Given the description of an element on the screen output the (x, y) to click on. 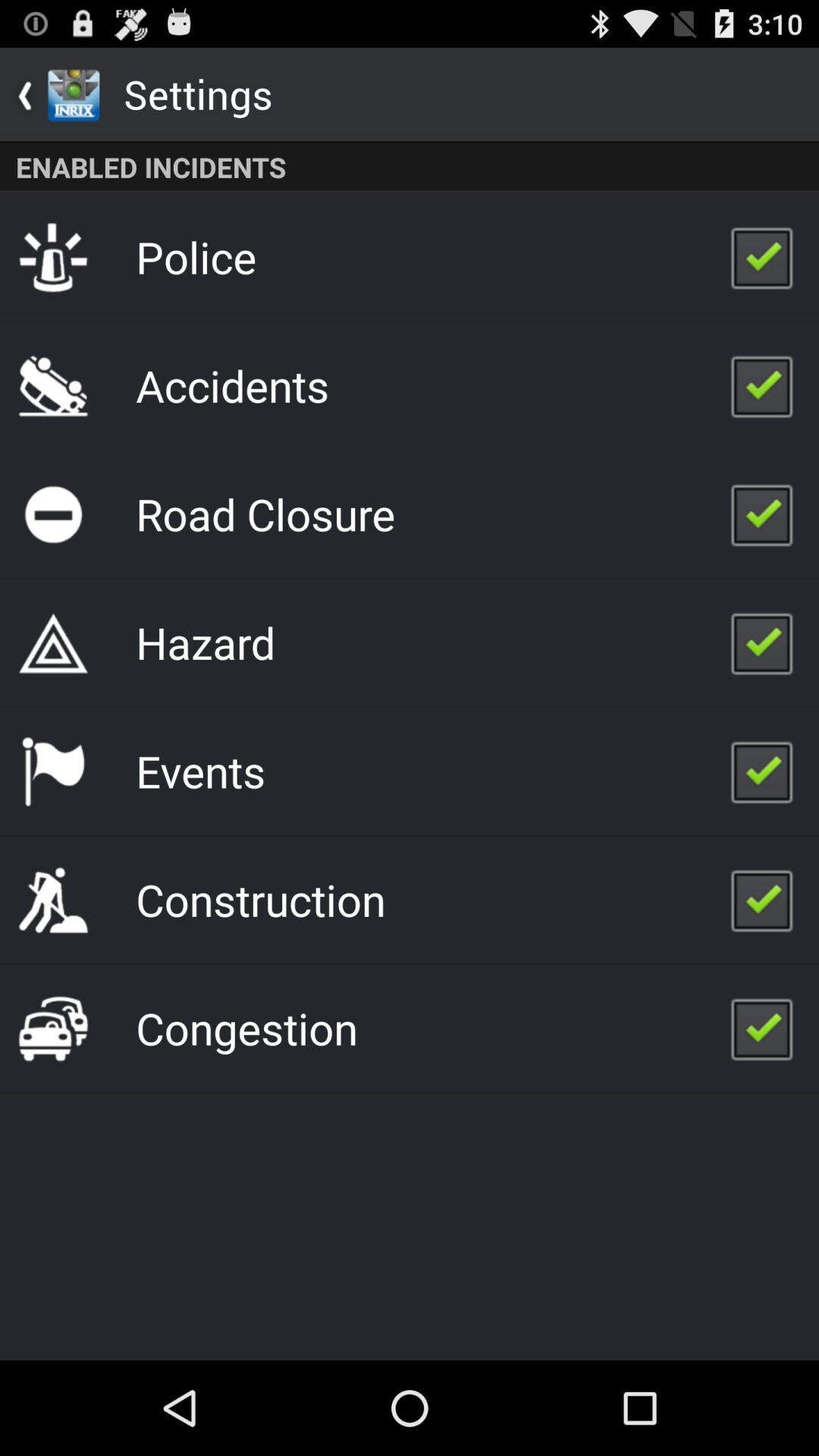
open app below police icon (232, 385)
